Given the description of an element on the screen output the (x, y) to click on. 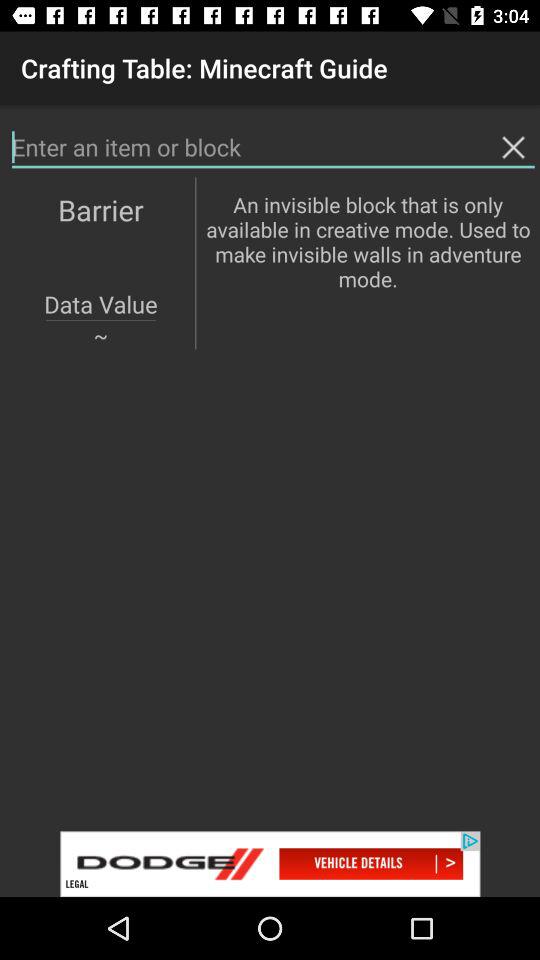
clear (513, 147)
